Given the description of an element on the screen output the (x, y) to click on. 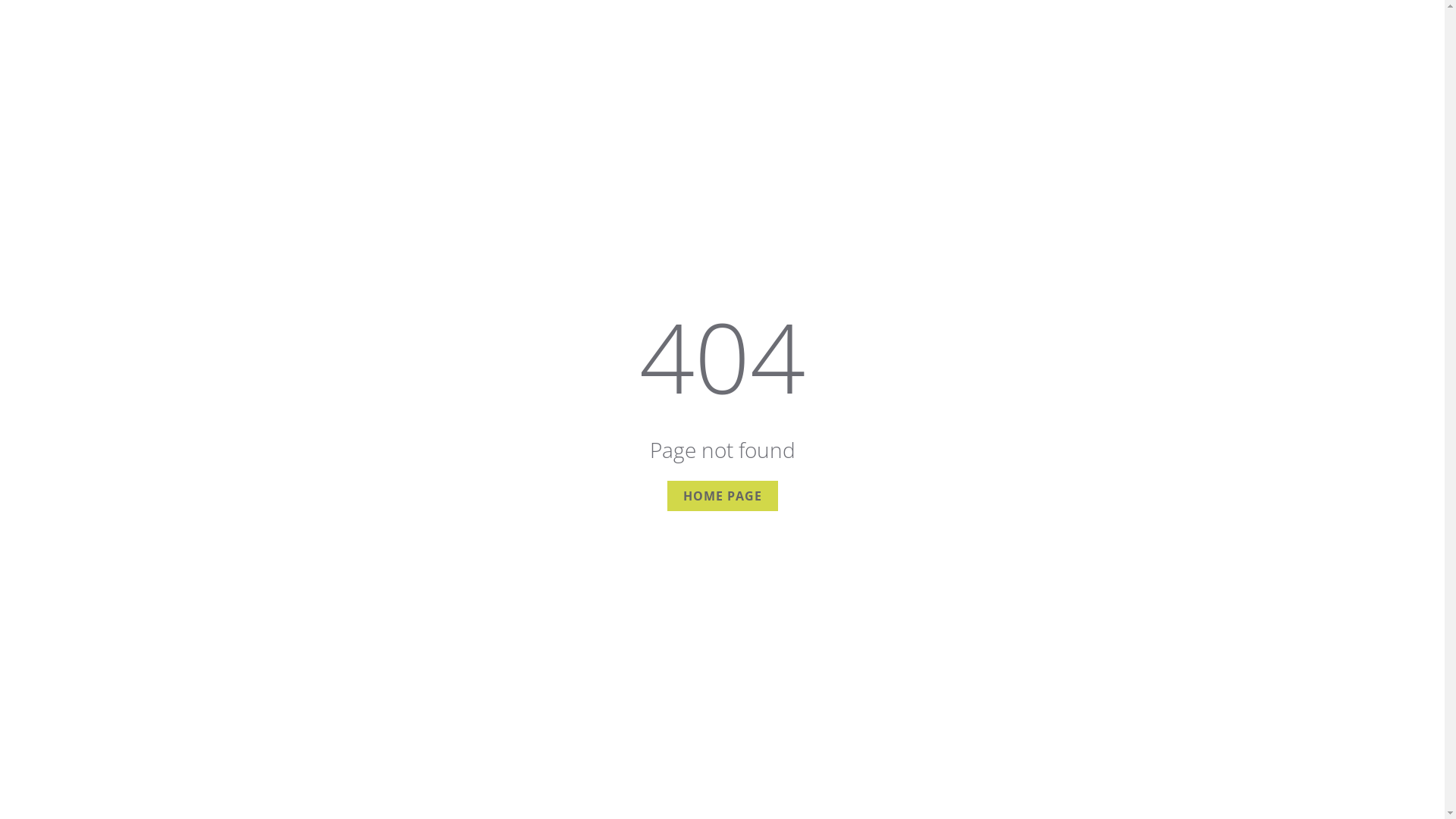
HOME PAGE Element type: text (722, 495)
